Given the description of an element on the screen output the (x, y) to click on. 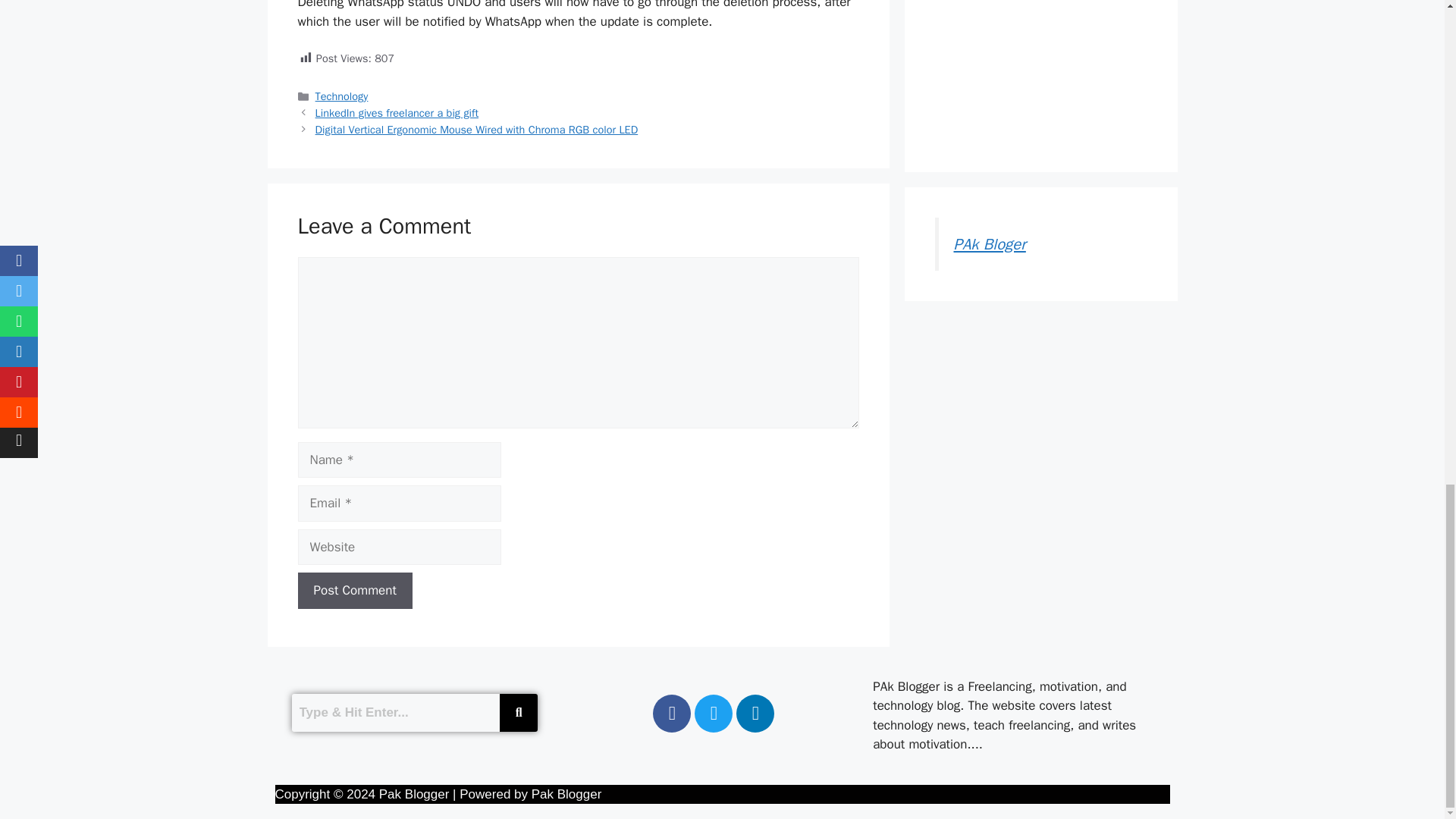
Search (395, 712)
Technology (341, 96)
Post Comment (354, 590)
Post Comment (354, 590)
LinkedIn gives freelancer a big gift (397, 112)
PAk Bloger (989, 243)
Scroll back to top (1406, 340)
